Given the description of an element on the screen output the (x, y) to click on. 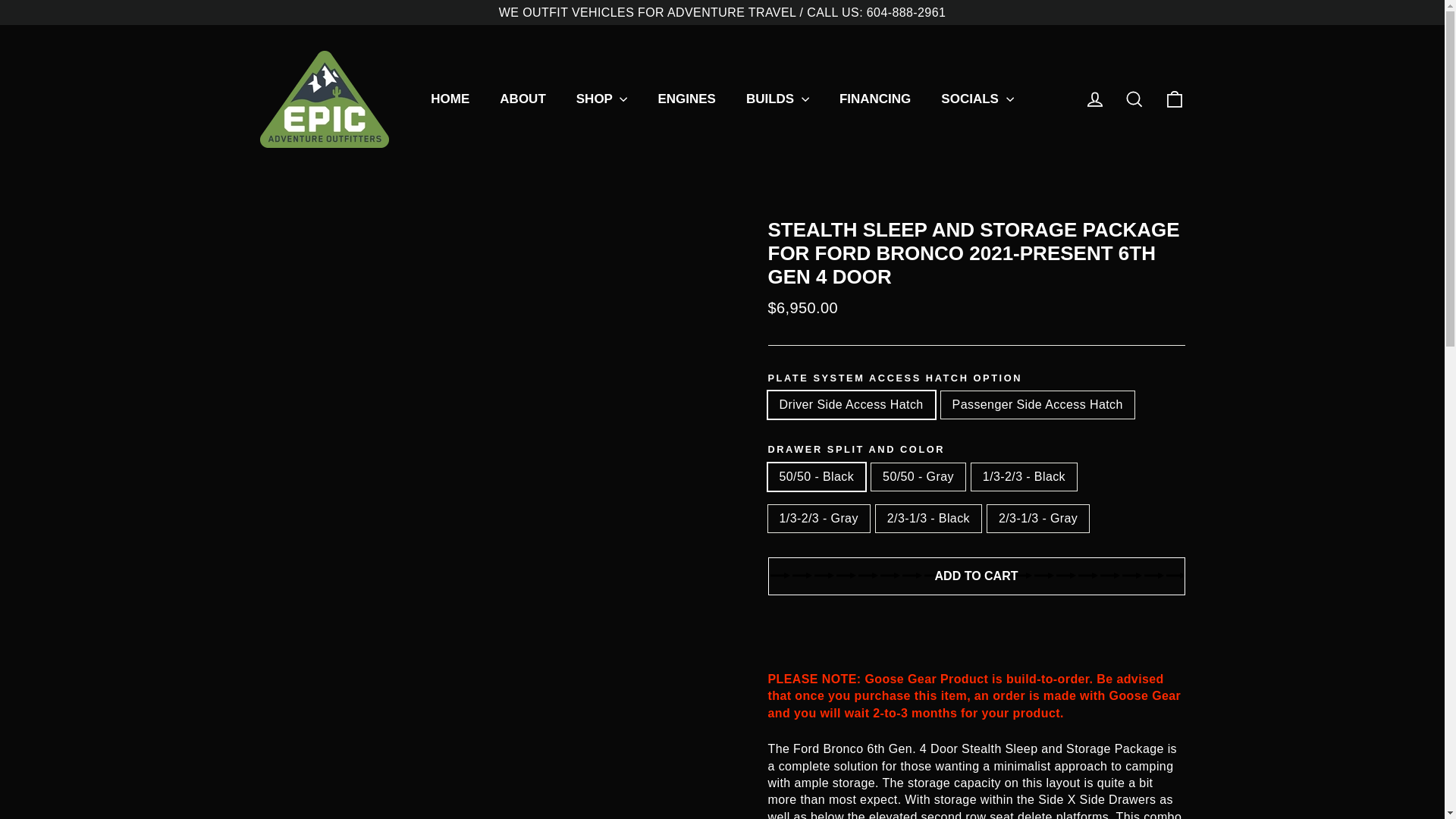
SHOP (601, 99)
HOME (449, 99)
ENGINES (686, 99)
BUILDS (777, 99)
ABOUT (522, 99)
